Given the description of an element on the screen output the (x, y) to click on. 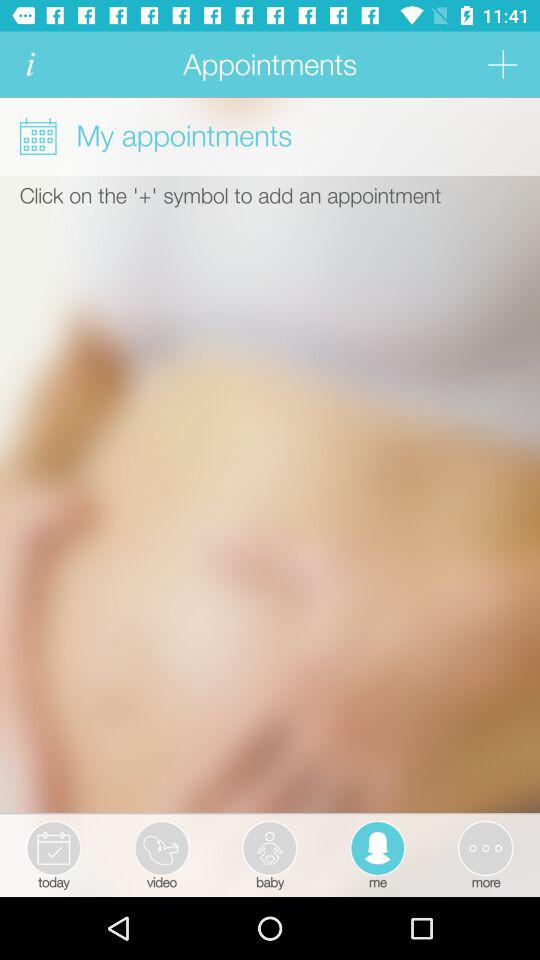
add appointment (502, 63)
